Given the description of an element on the screen output the (x, y) to click on. 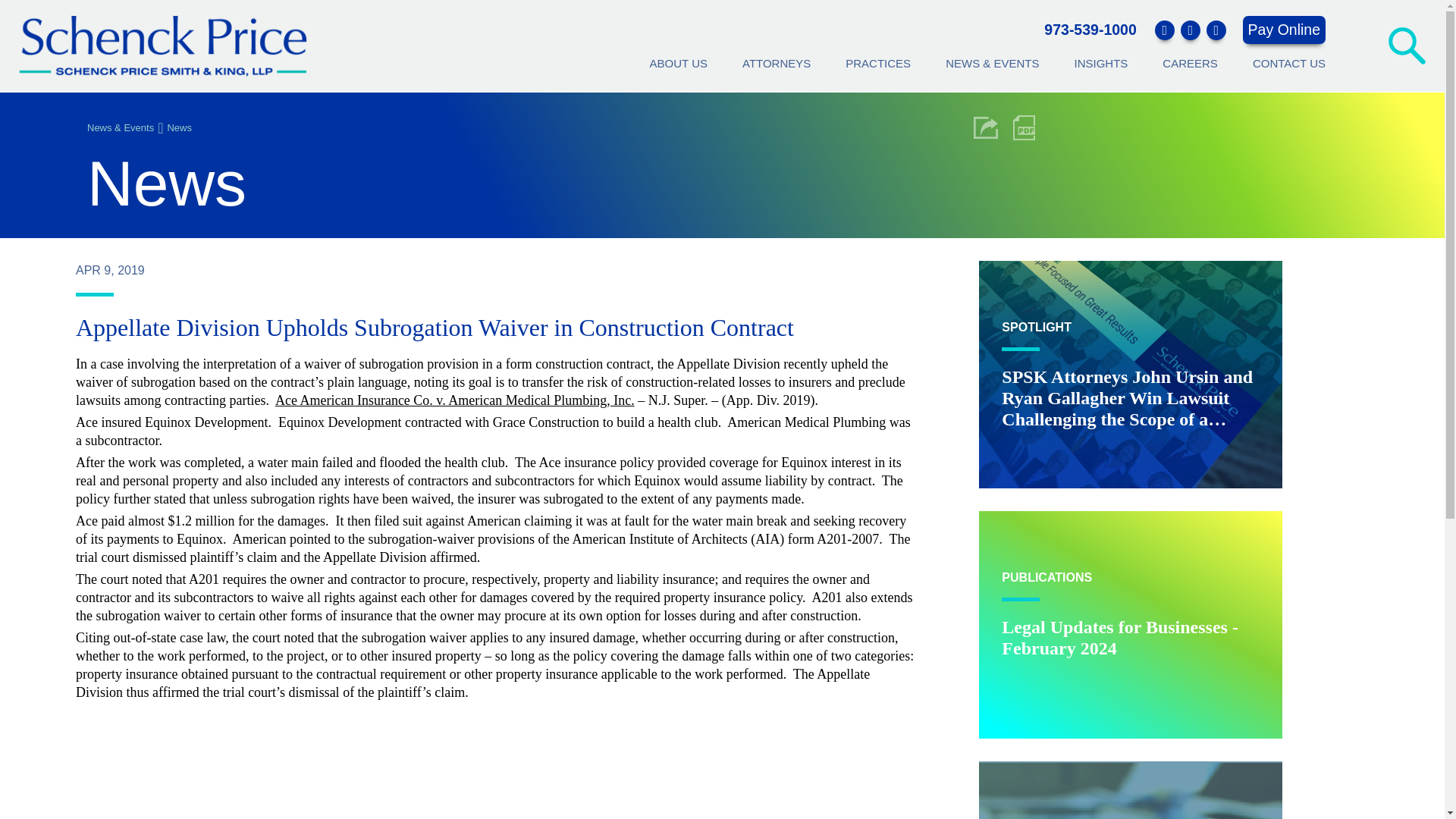
INSIGHTS (1100, 63)
CONTACT US (1288, 63)
Share (985, 127)
Florham Park (1089, 29)
News (179, 126)
ATTORNEYS (776, 63)
CAREERS (1130, 624)
ABOUT US (1189, 63)
973-539-1000 (678, 63)
PRACTICES (1089, 29)
Pay Online (878, 63)
